Given the description of an element on the screen output the (x, y) to click on. 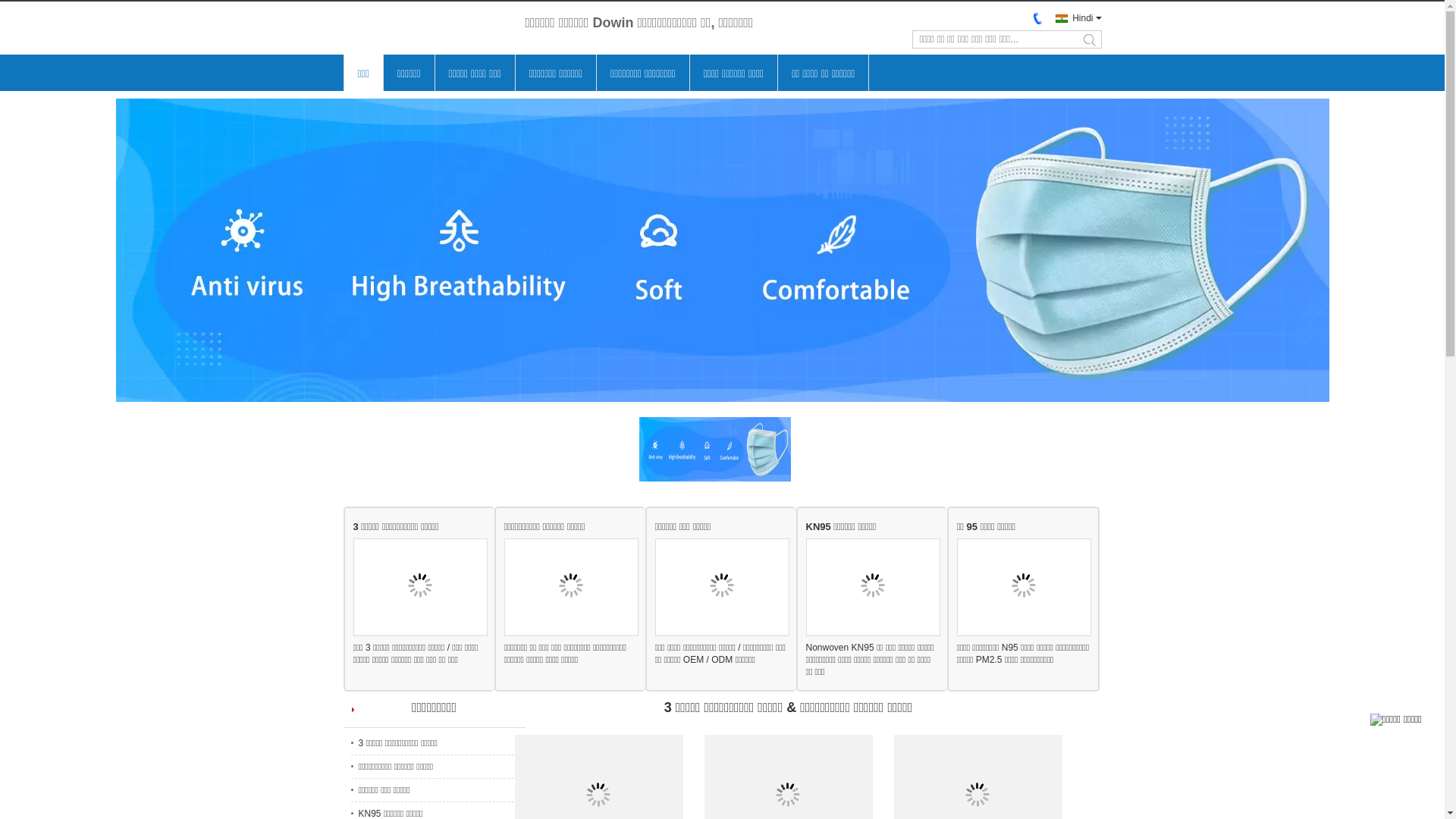
Hindi Element type: text (1073, 17)
